Given the description of an element on the screen output the (x, y) to click on. 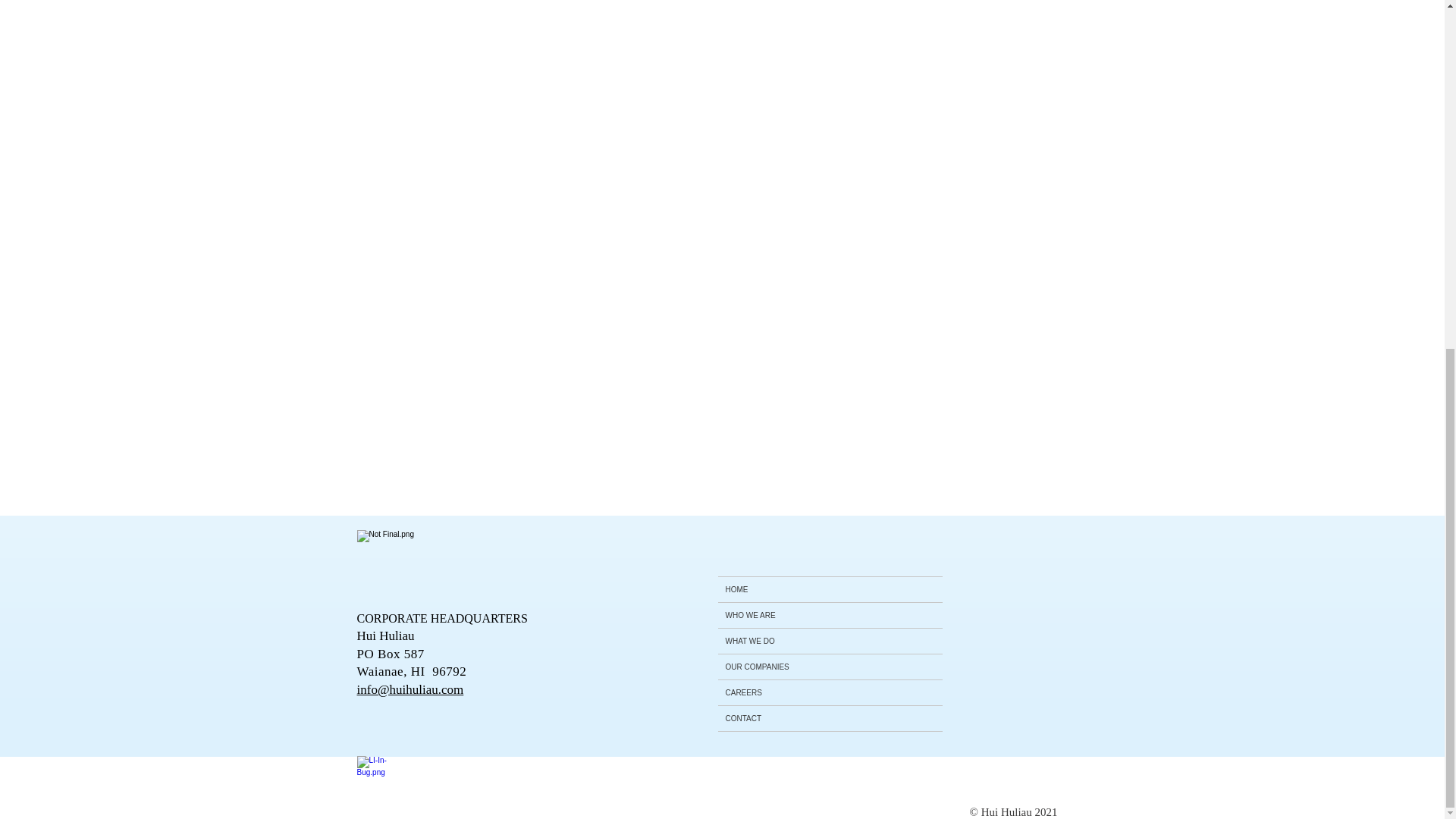
OUR COMPANIES (829, 666)
CAREERS (829, 692)
HOME (829, 589)
CONTACT (829, 718)
